Given the description of an element on the screen output the (x, y) to click on. 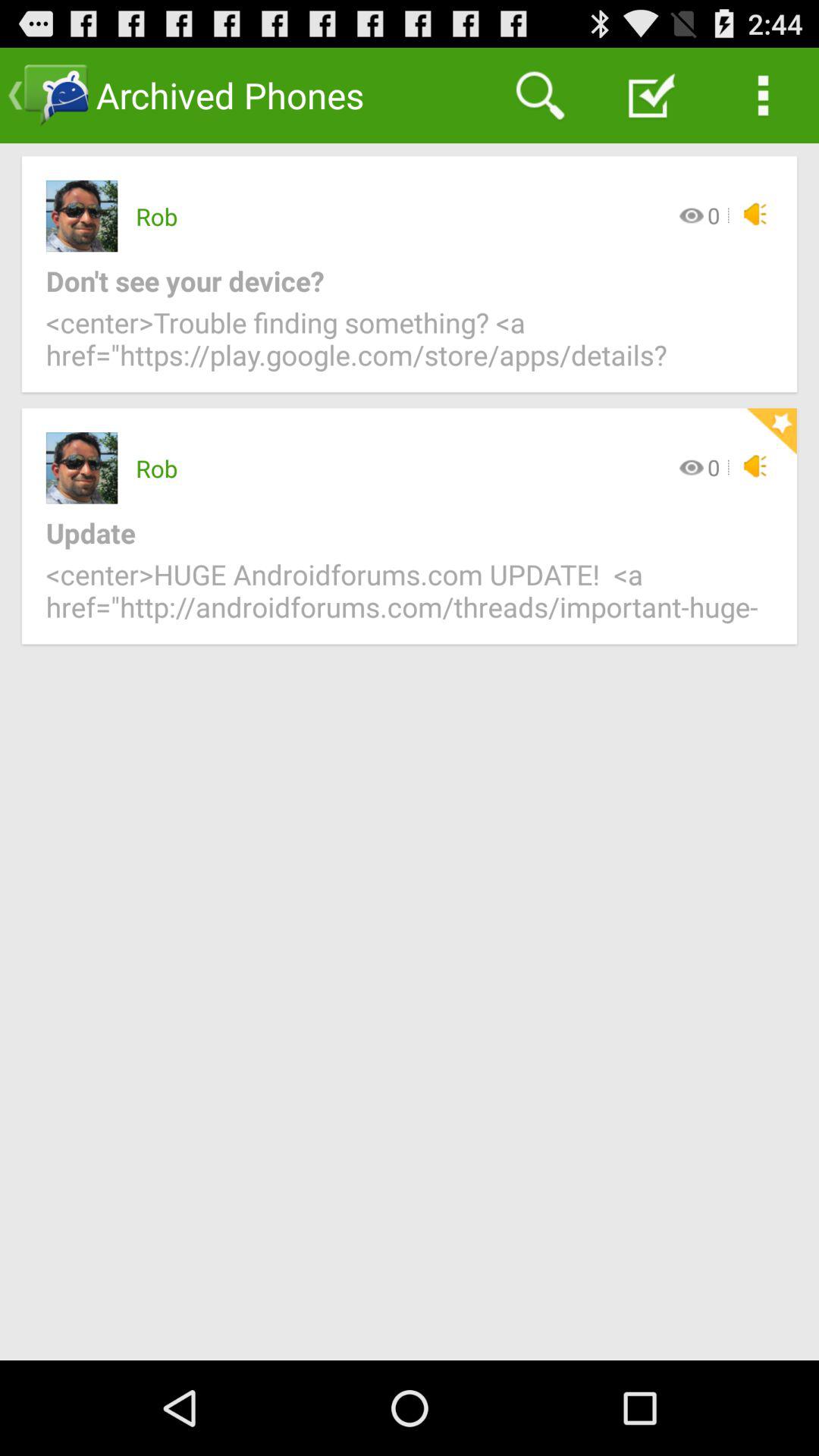
turn off the icon above rob app (540, 95)
